Given the description of an element on the screen output the (x, y) to click on. 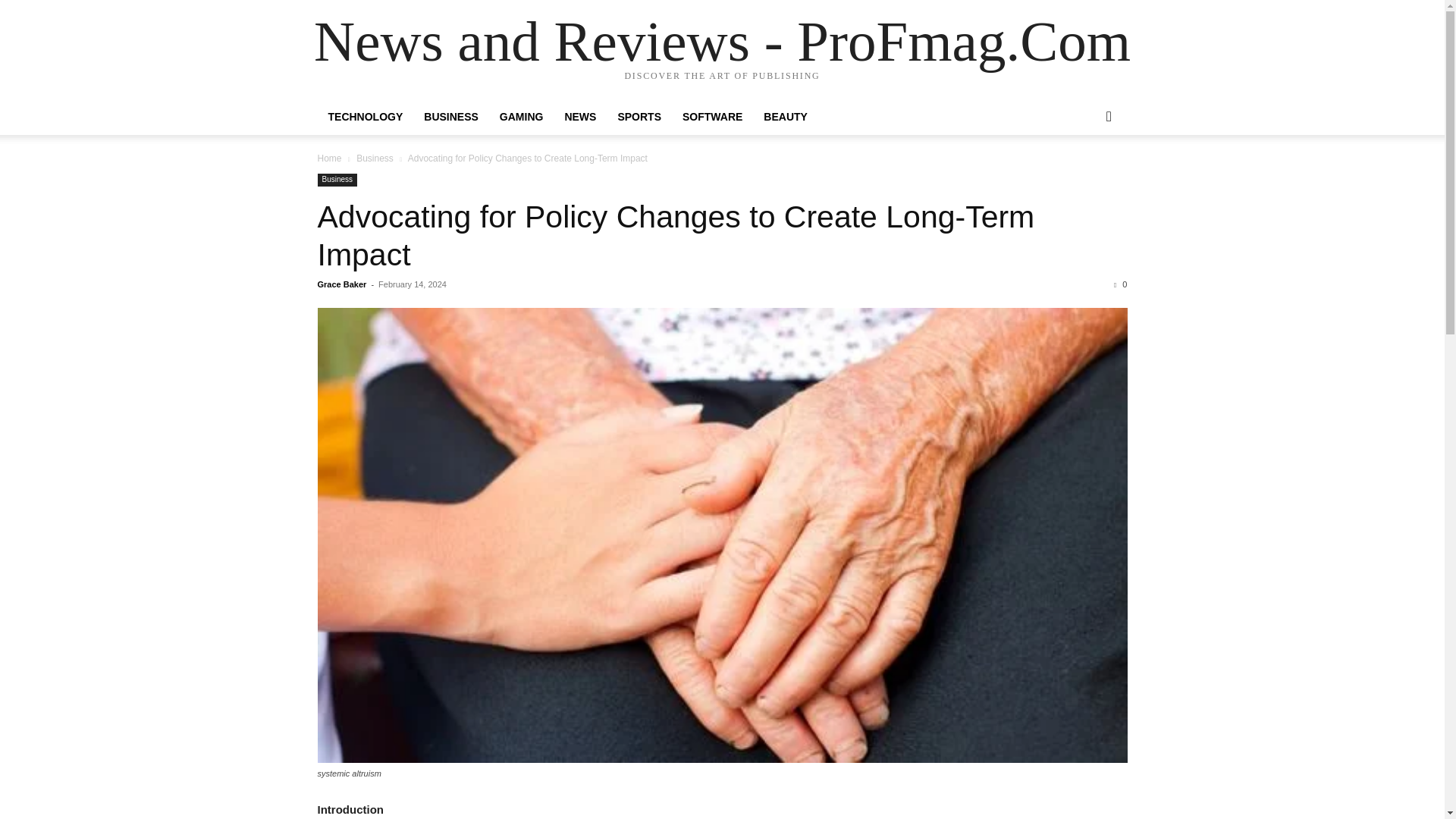
Advocating for Policy Changes to Create Long-Term Impact (675, 235)
TECHNOLOGY (365, 116)
SPORTS (639, 116)
Business (374, 158)
BUSINESS (451, 116)
BEAUTY (785, 116)
Search (1085, 177)
News and Reviews - ProFmag.Com (722, 41)
Grace Baker (341, 284)
Home (328, 158)
SOFTWARE (711, 116)
Advocating for Policy Changes to Create Long-Term Impact (675, 235)
NEWS (580, 116)
Business (336, 179)
